Given the description of an element on the screen output the (x, y) to click on. 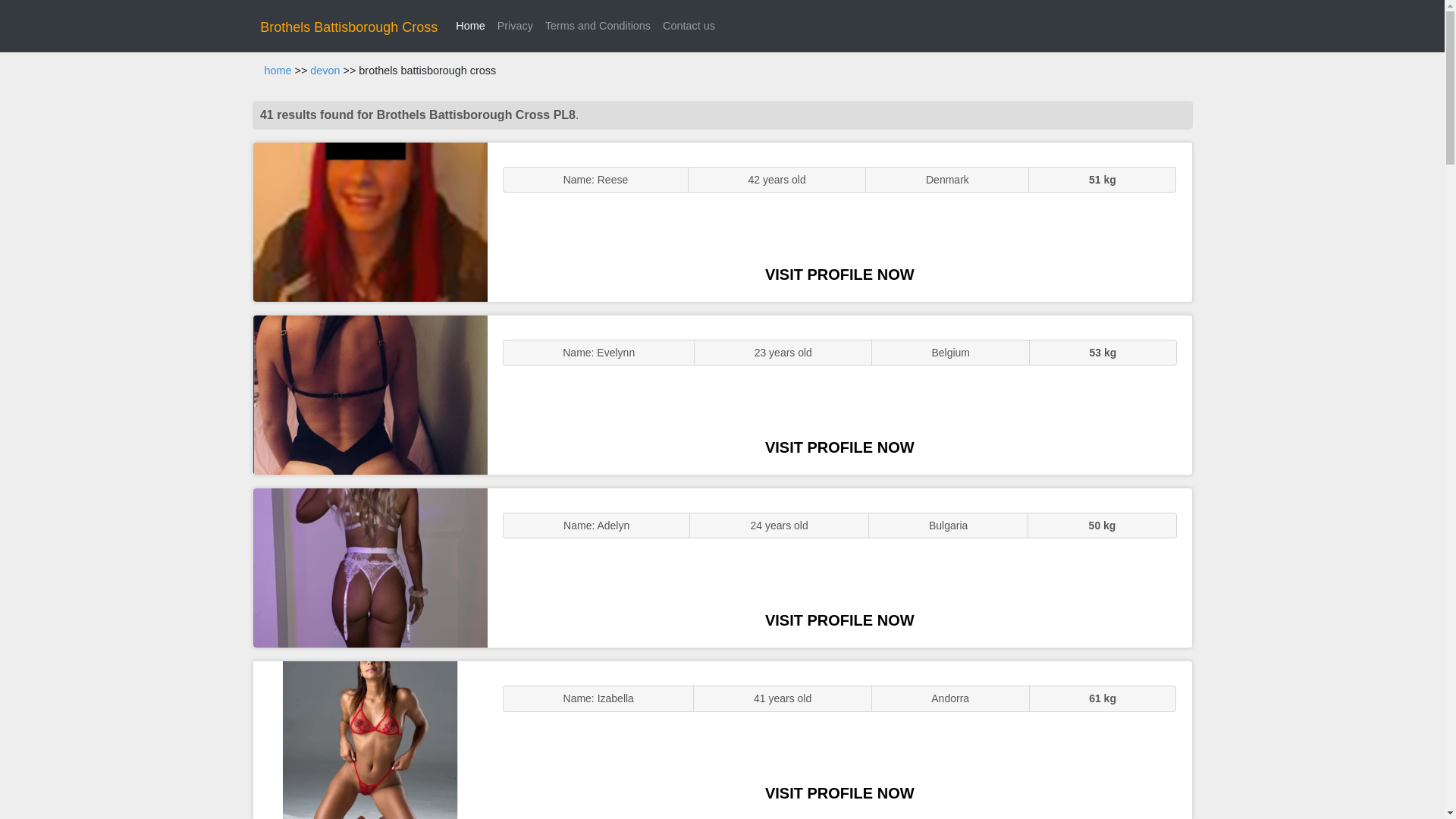
home (277, 70)
Sluts (370, 739)
Sexy (370, 567)
VISIT PROFILE NOW (839, 446)
GFE (370, 395)
devon (324, 70)
Brothels Battisborough Cross (349, 27)
VISIT PROFILE NOW (839, 619)
VISIT PROFILE NOW (839, 792)
VISIT PROFILE NOW (839, 274)
Contact us (688, 25)
 ENGLISH STUNNER (370, 222)
Privacy (515, 25)
Terms and Conditions (597, 25)
